Given the description of an element on the screen output the (x, y) to click on. 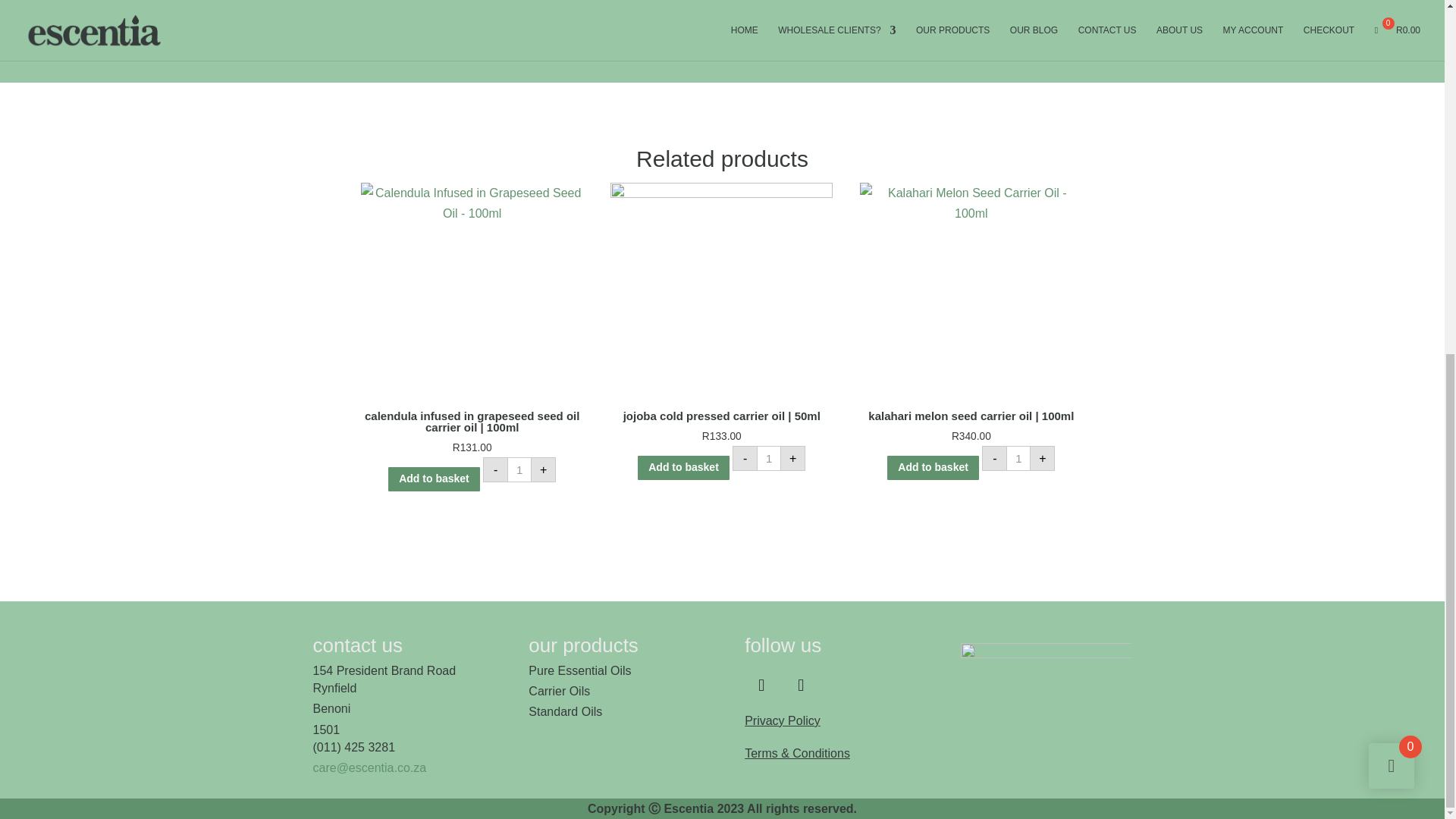
- (994, 457)
1 (519, 469)
1 (1018, 457)
Standard Oils (565, 711)
Qty (768, 457)
Qty (1018, 457)
- (744, 457)
Follow on Instagram (800, 685)
Add to basket (932, 467)
1 (768, 457)
Escentia (1045, 688)
Privacy Policy (782, 720)
Add to basket (434, 478)
Follow on Facebook (760, 685)
Pure Essential Oils (579, 670)
